Given the description of an element on the screen output the (x, y) to click on. 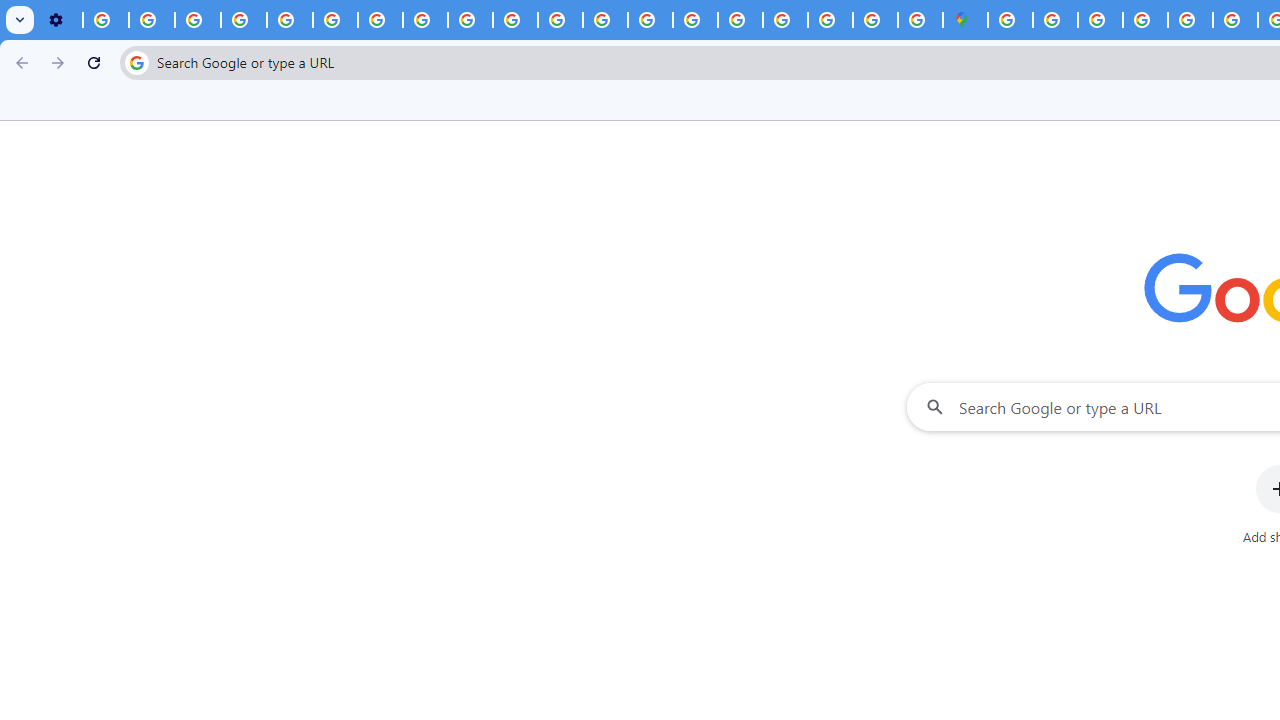
Sign in - Google Accounts (784, 20)
Privacy Checkup (470, 20)
Learn how to find your photos - Google Photos Help (152, 20)
YouTube (335, 20)
Google Maps (965, 20)
Settings - Customize profile (60, 20)
Privacy Help Center - Policies Help (1235, 20)
Privacy Help Center - Policies Help (290, 20)
https://scholar.google.com/ (559, 20)
Sign in - Google Accounts (1055, 20)
